Given the description of an element on the screen output the (x, y) to click on. 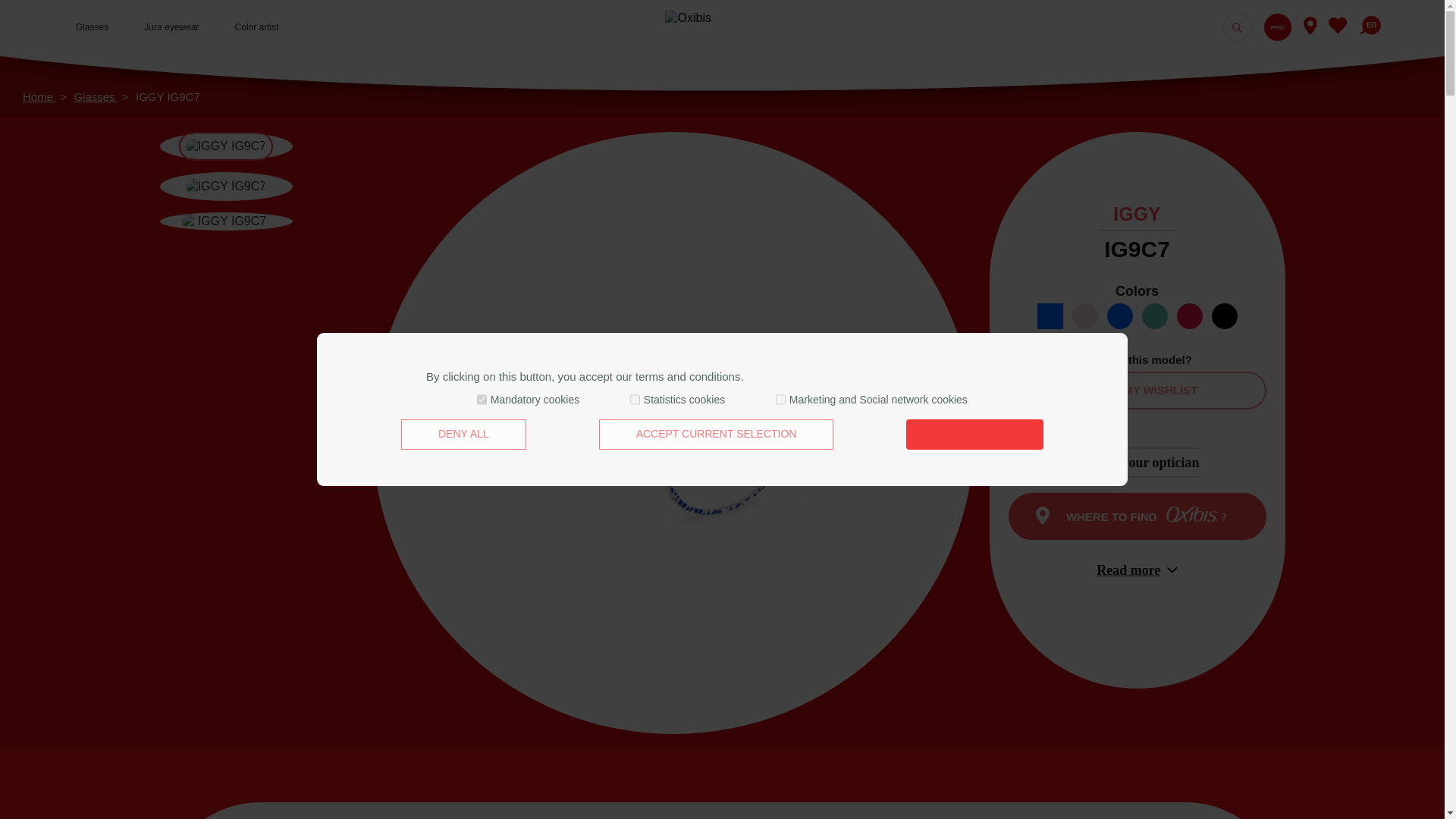
"incarnat" pink - "organza" pink (1084, 316)
Home (39, 96)
Jura eyewear (171, 27)
crystal - "magenta" pink (1189, 316)
IGGY IG9C7 (167, 96)
ADD TO MY WISHLIST (1137, 390)
Glasses (95, 96)
crystal - "indigo" blue (1049, 316)
Color artist (256, 27)
PRO (1276, 26)
